Given the description of an element on the screen output the (x, y) to click on. 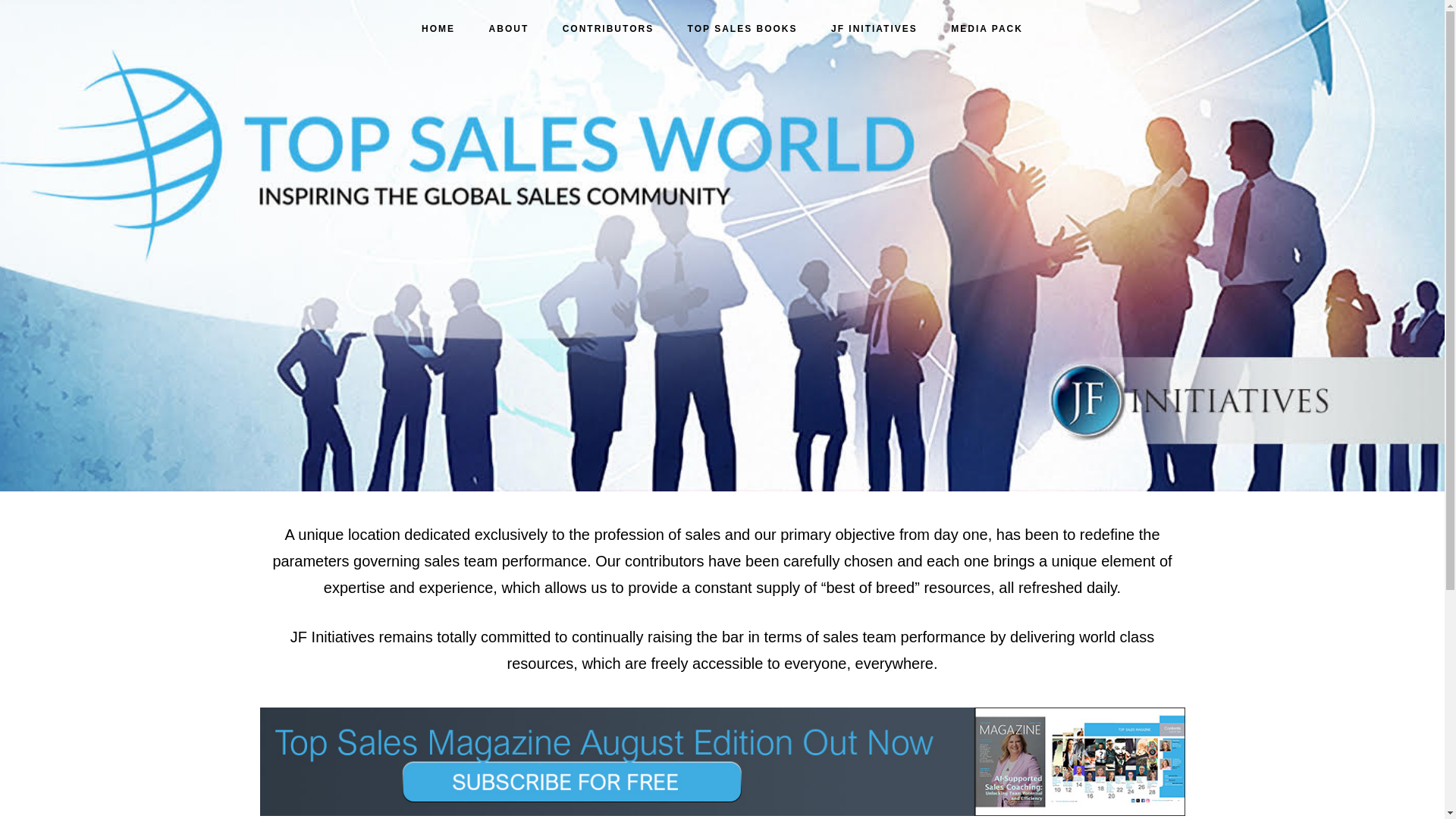
JF INITIATIVES (874, 28)
ABOUT (509, 28)
TOP SALES BOOKS (742, 28)
CONTRIBUTORS (607, 28)
MEDIA PACK (987, 28)
HOME (438, 28)
